Given the description of an element on the screen output the (x, y) to click on. 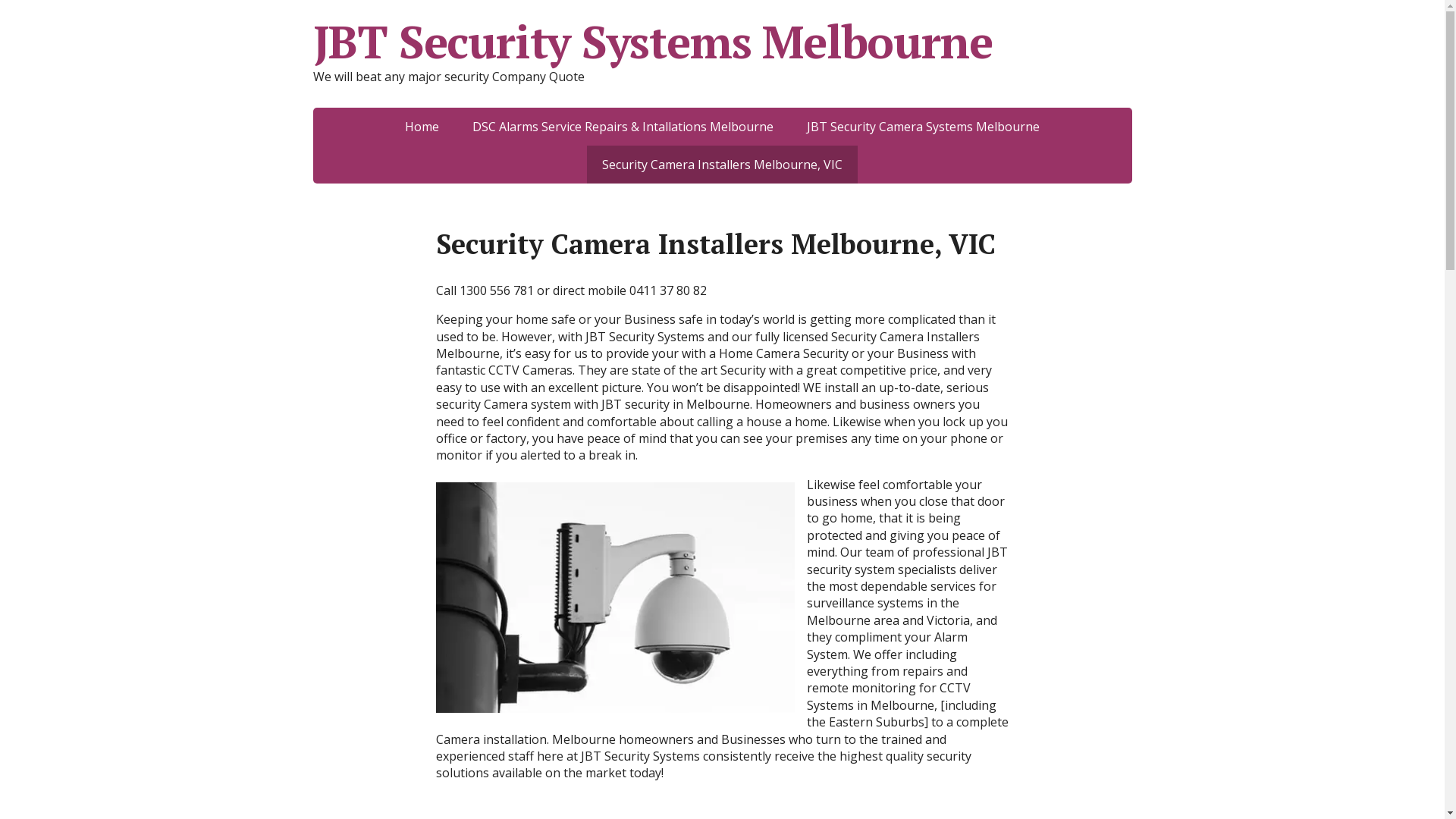
JBT Security Systems Melbourne Element type: text (721, 41)
Security Camera Installers Melbourne, VIC Element type: text (721, 164)
DSC Alarms Service Repairs & Intallations Melbourne Element type: text (622, 126)
Home Element type: text (421, 126)
JBT Security Camera Systems Melbourne Element type: text (922, 126)
